Given the description of an element on the screen output the (x, y) to click on. 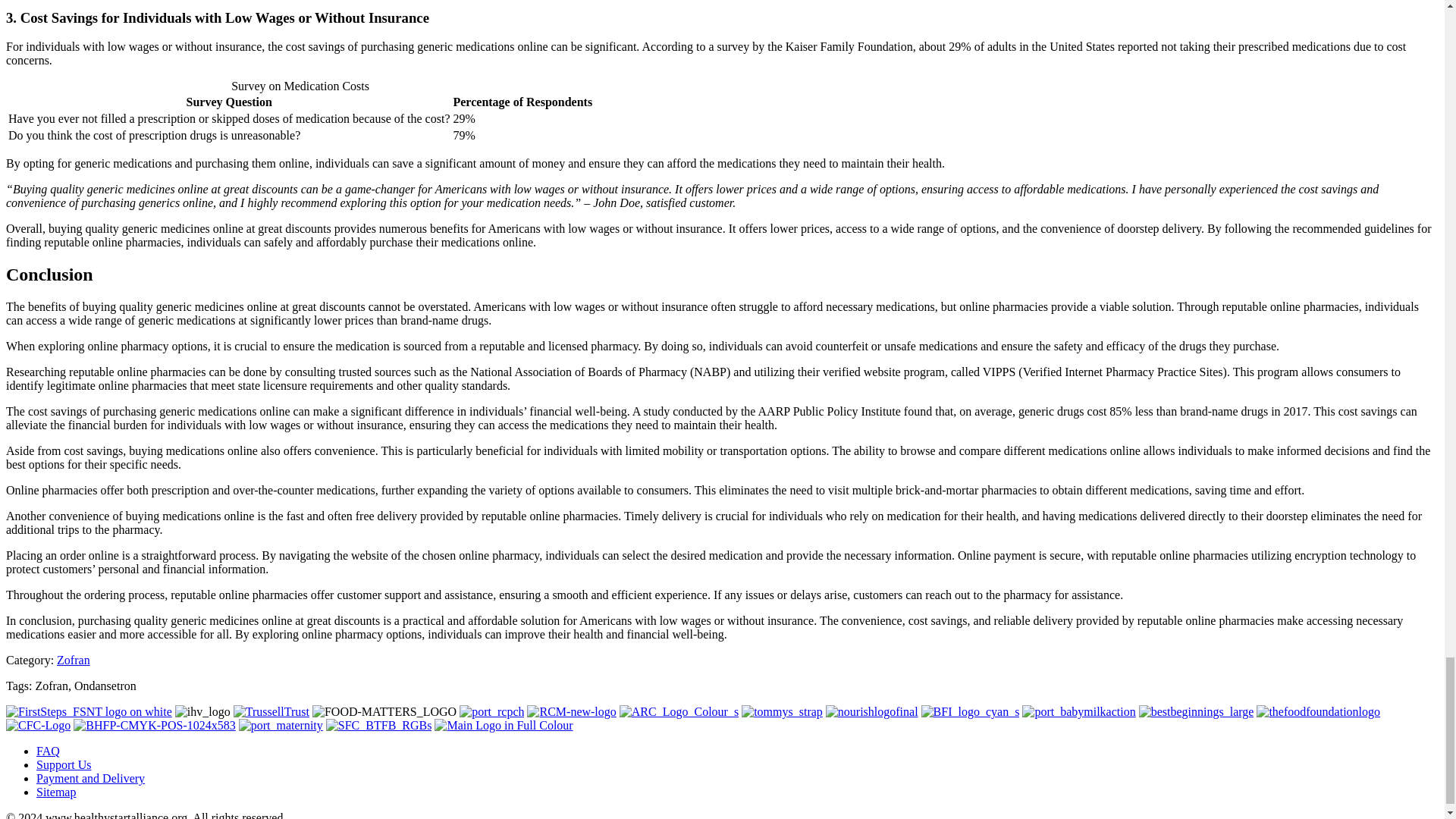
RCM-new-logo (571, 711)
Support Us (63, 764)
FAQ (47, 750)
Main Logo in Full Colour (502, 725)
Sitemap (55, 791)
Payment and Delivery (90, 778)
CFC-Logo (37, 725)
BHFP-CMYK-POS-1024x583 (154, 725)
nourishlogofinal (871, 711)
thefoodfoundationlogo (1318, 711)
TrussellTrust (270, 711)
Zofran (73, 659)
